Given the description of an element on the screen output the (x, y) to click on. 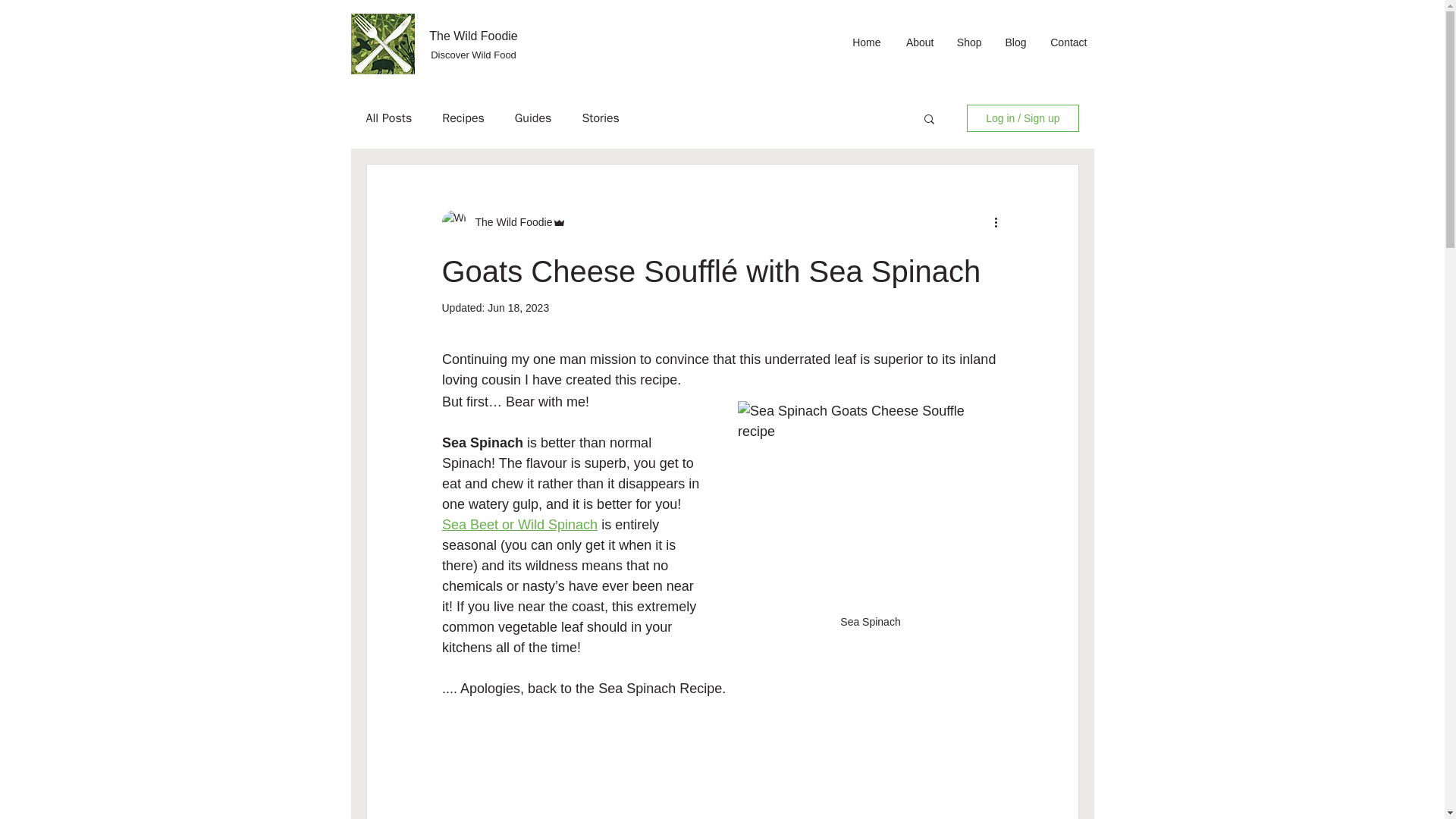
Home (865, 42)
Recipes (463, 118)
Stories (600, 118)
Jun 18, 2023 (517, 307)
Blog (1015, 42)
All Posts (388, 118)
The Wild Foodie (473, 36)
Guides (533, 118)
Sea Beet or Wild Spinach (518, 524)
Shop (968, 42)
